Given the description of an element on the screen output the (x, y) to click on. 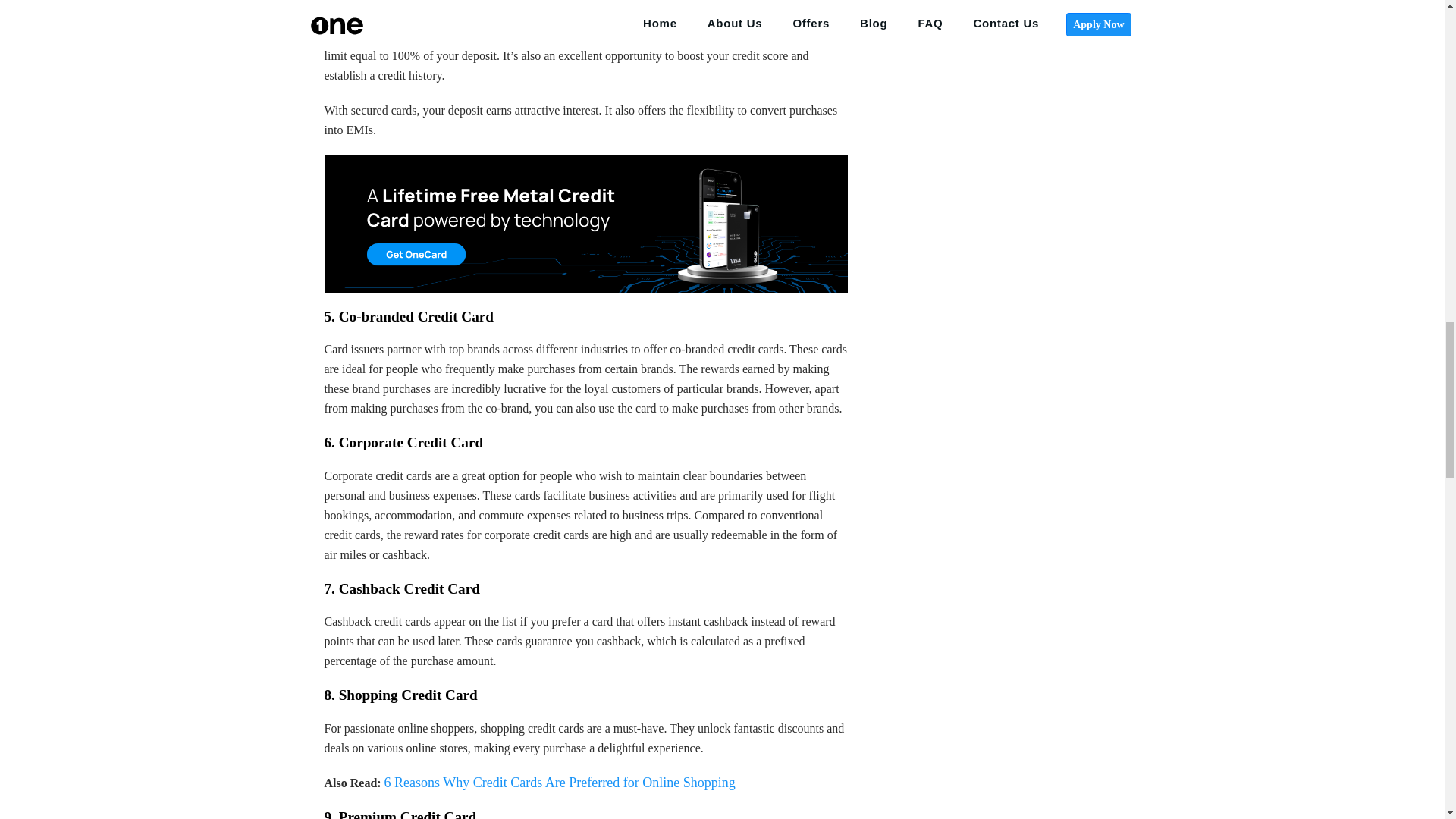
6 Reasons Why Credit Cards Are Preferred for Online Shopping (559, 782)
